Given the description of an element on the screen output the (x, y) to click on. 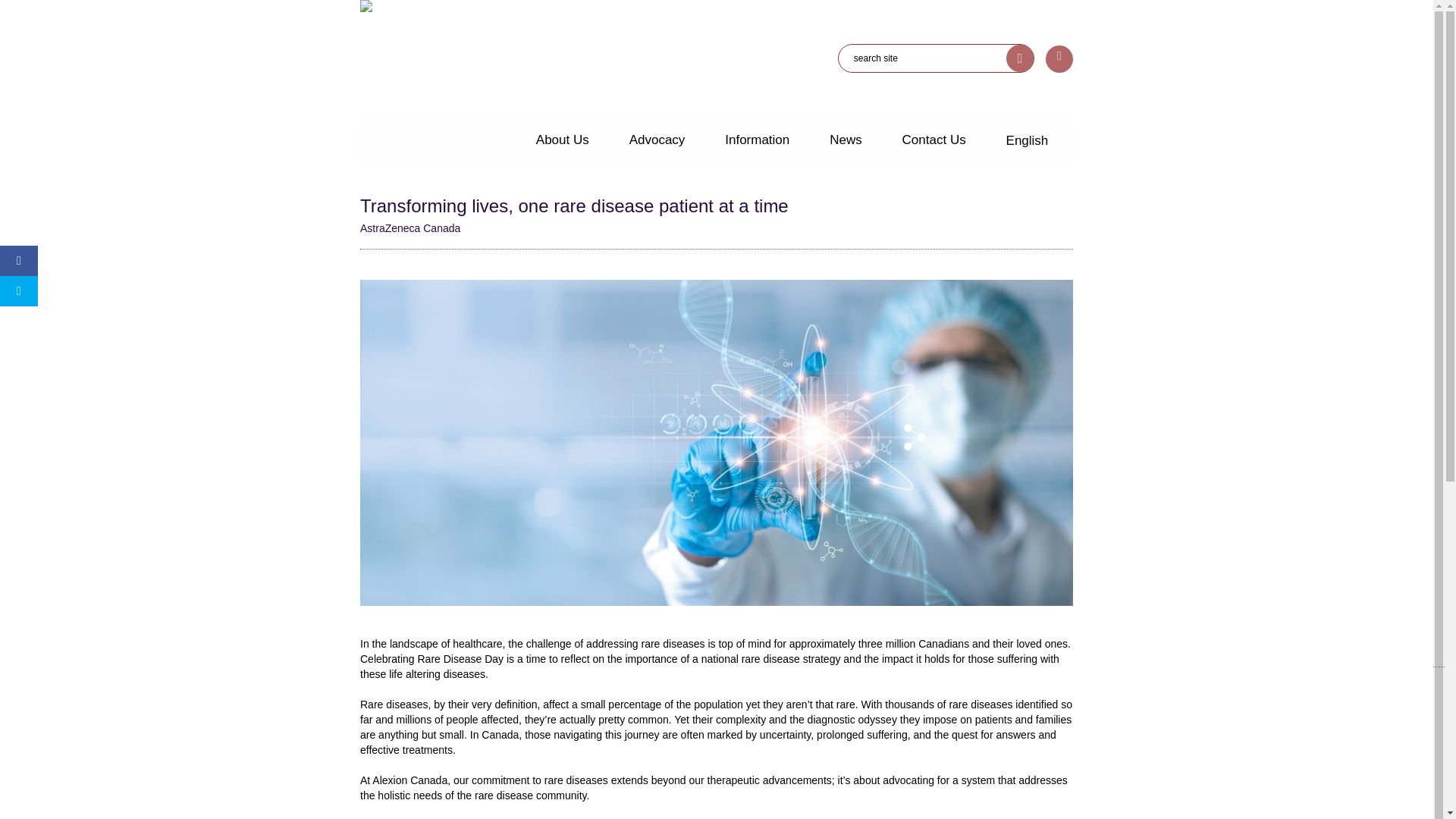
Youtube (418, 755)
About Us (562, 140)
Advocacy (656, 140)
Facebook (397, 755)
Twitter (374, 755)
English (1027, 140)
